Given the description of an element on the screen output the (x, y) to click on. 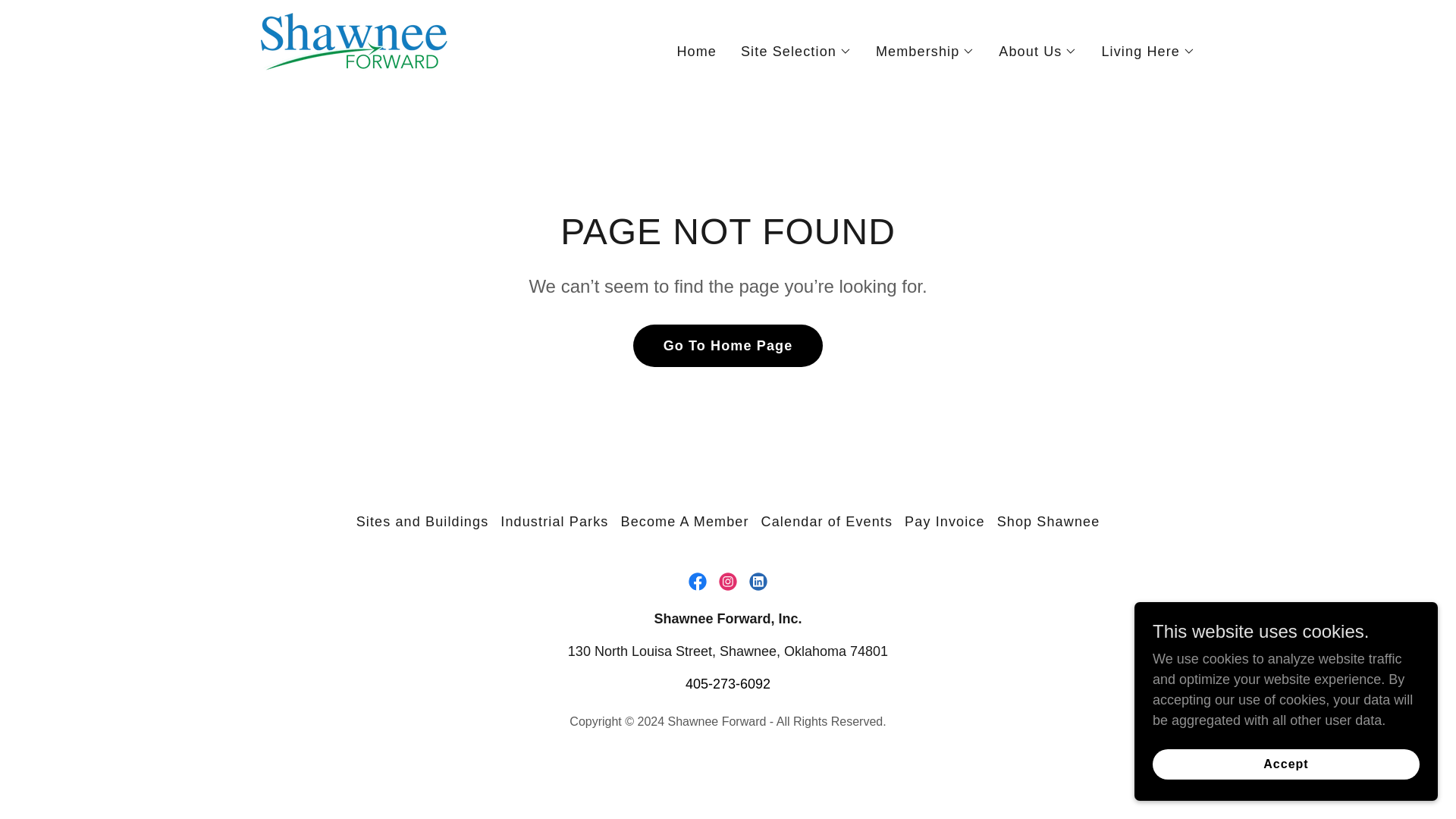
Site Selection (796, 51)
Home (695, 51)
Membership (925, 51)
Living Here (1147, 51)
About Us (1037, 51)
ShawneeForward (354, 48)
